Given the description of an element on the screen output the (x, y) to click on. 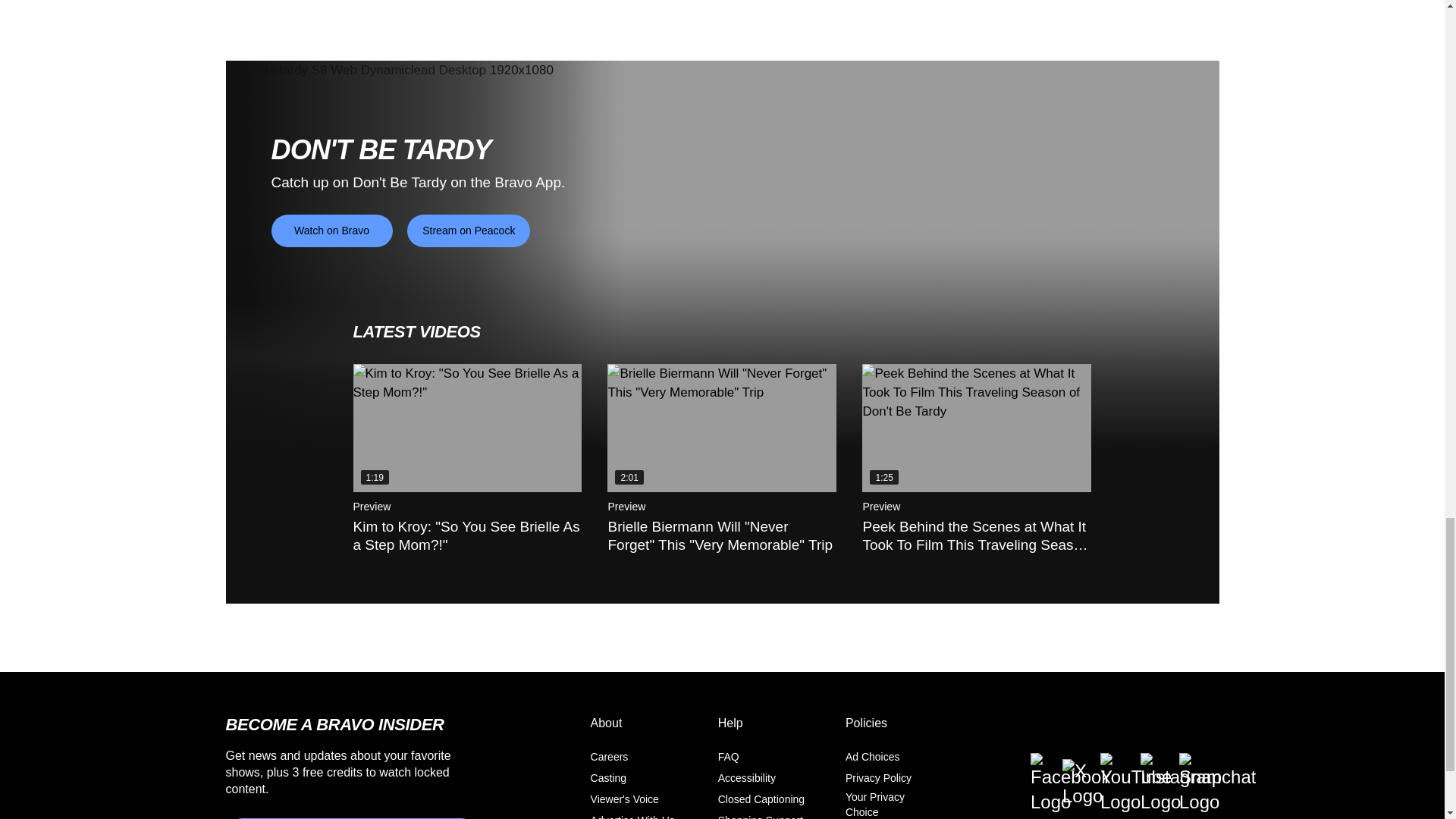
Kim to Kroy: "So You See Brielle As a Step Mom?!" (467, 428)
Advertise With Us (633, 816)
